Given the description of an element on the screen output the (x, y) to click on. 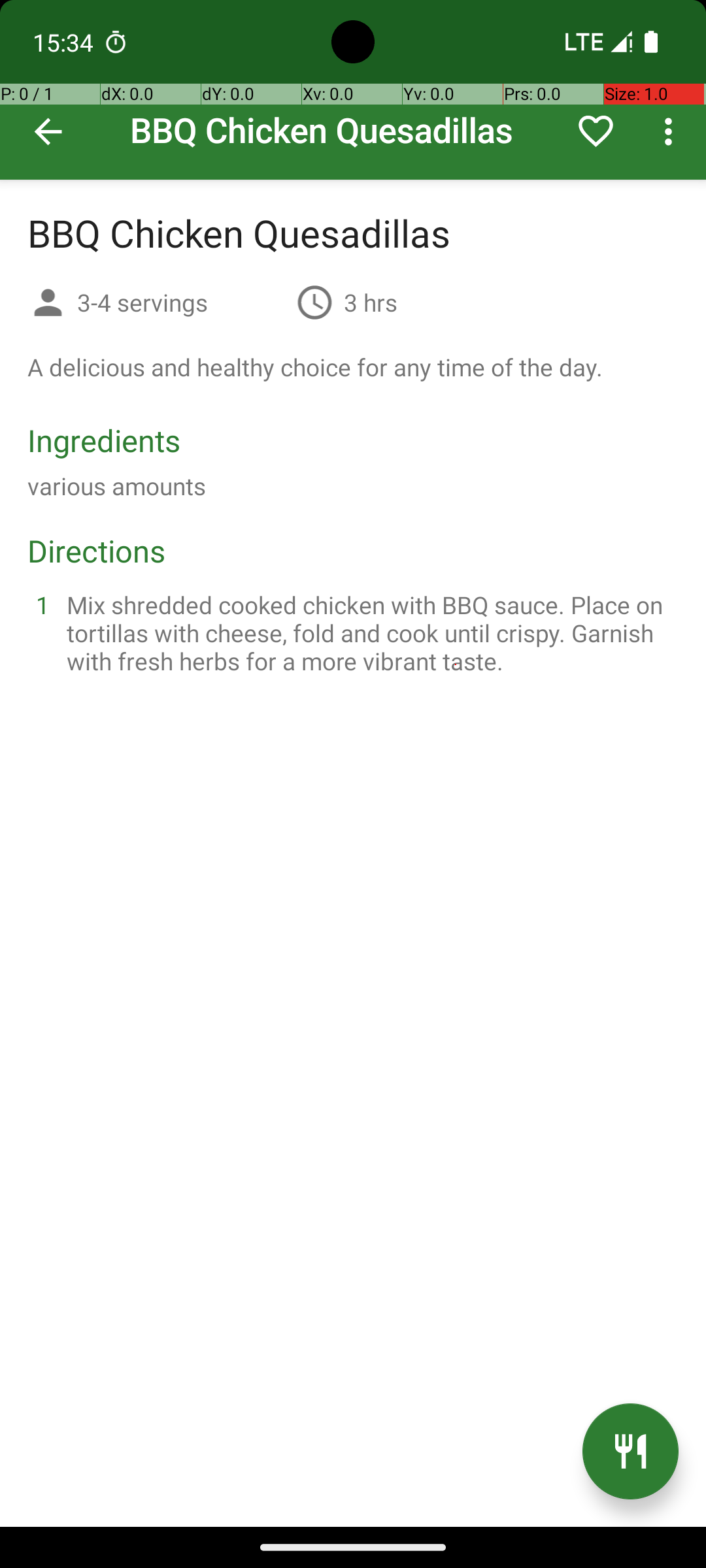
Mix shredded cooked chicken with BBQ sauce. Place on tortillas with cheese, fold and cook until crispy. Garnish with fresh herbs for a more vibrant taste. Element type: android.widget.TextView (368, 632)
